Given the description of an element on the screen output the (x, y) to click on. 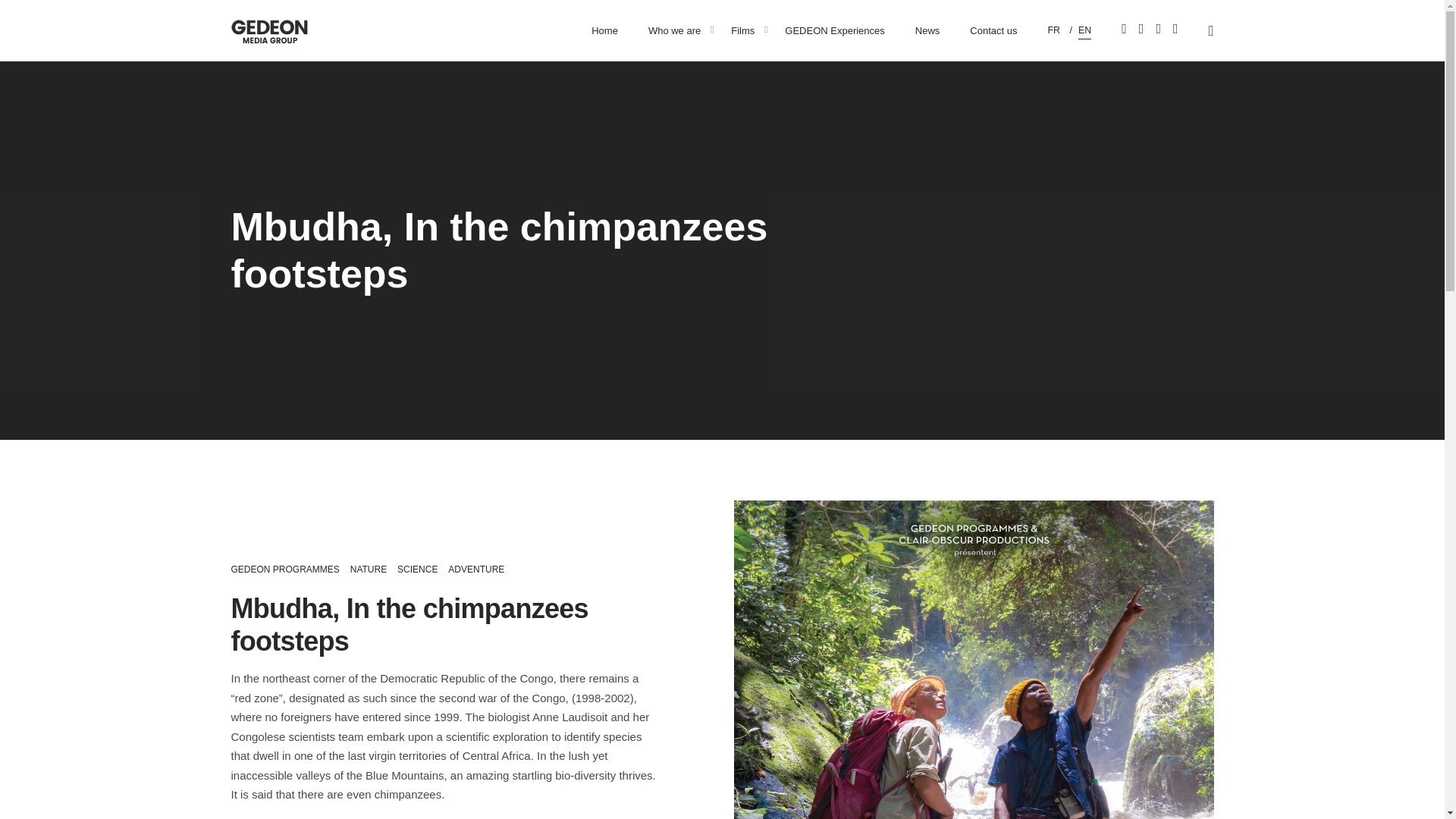
News (927, 30)
Who we are (674, 30)
Contact us (993, 30)
Films (743, 30)
GEDEON Experiences (834, 30)
Home (604, 30)
